Given the description of an element on the screen output the (x, y) to click on. 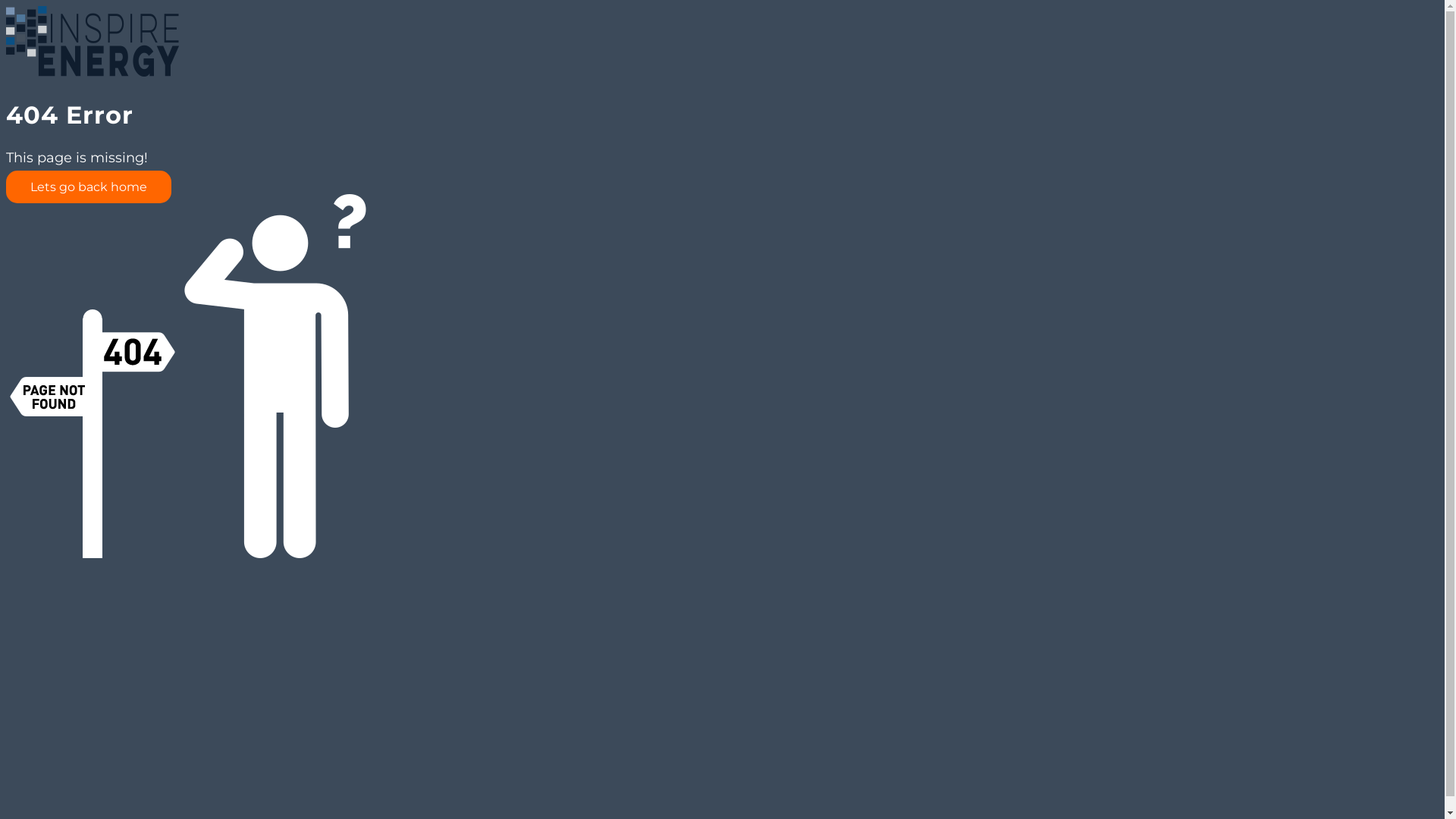
Lets go back home Element type: text (88, 186)
